Given the description of an element on the screen output the (x, y) to click on. 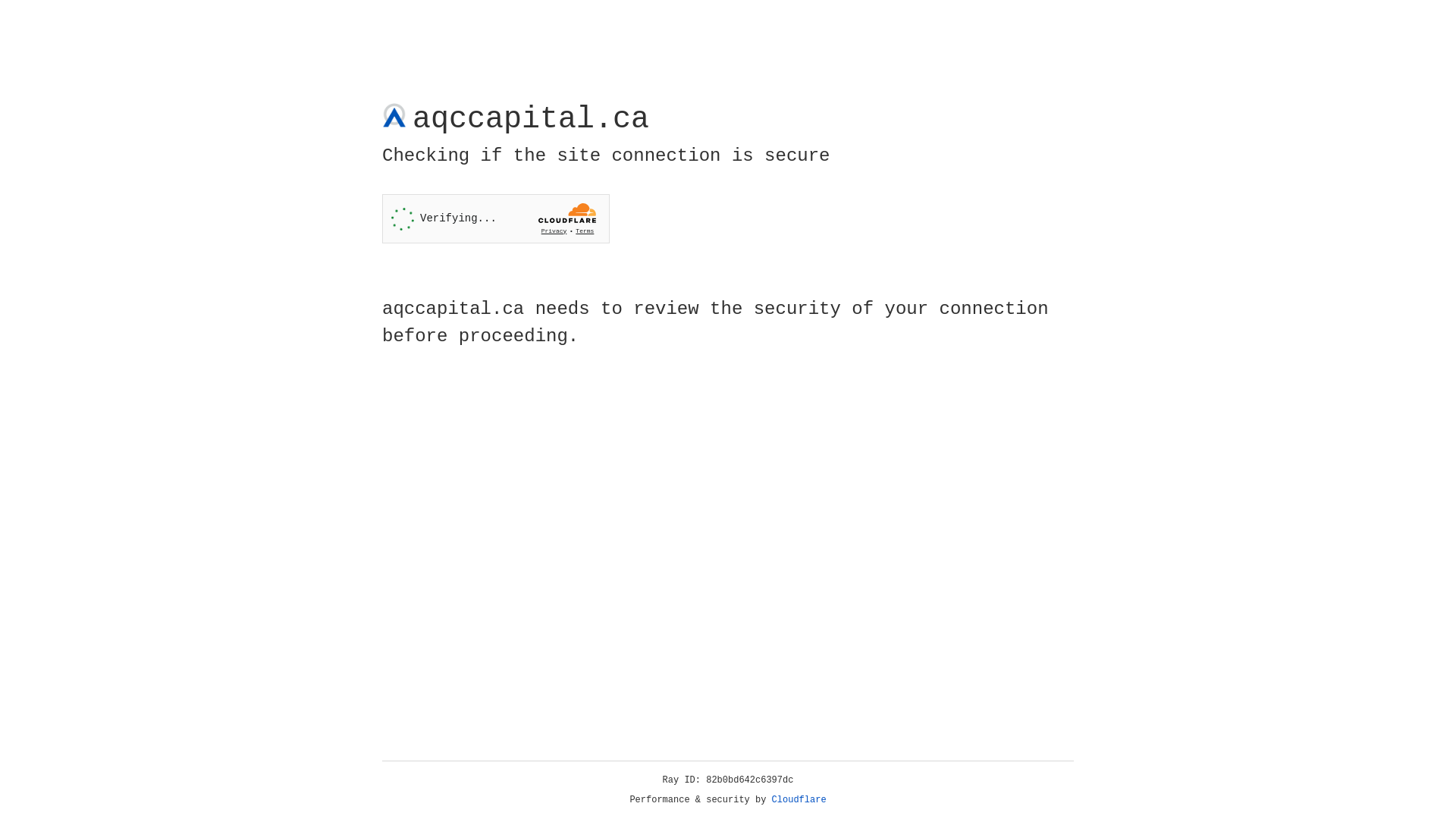
Cloudflare Element type: text (798, 799)
Widget containing a Cloudflare security challenge Element type: hover (495, 218)
